Given the description of an element on the screen output the (x, y) to click on. 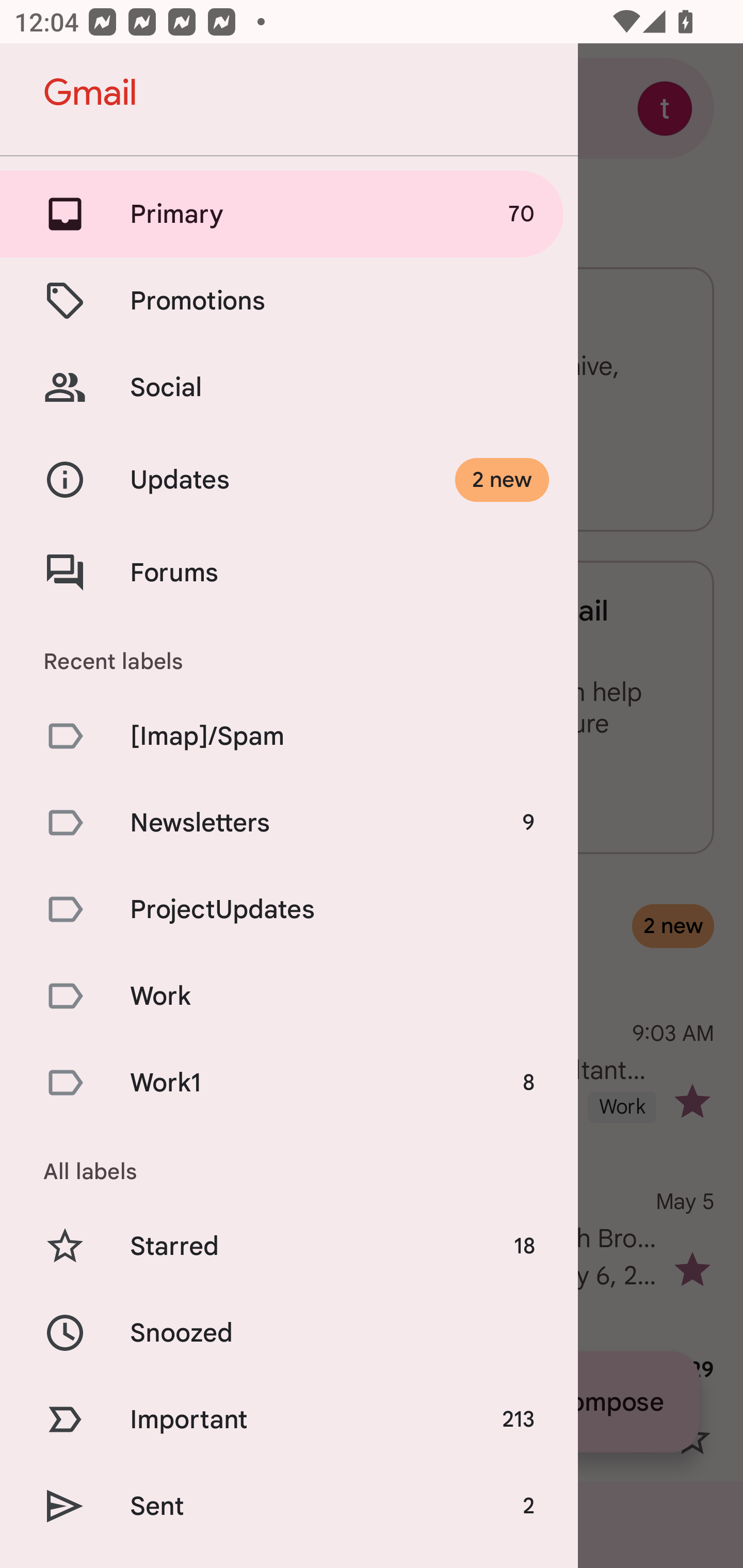
Primary 70 (289, 213)
Promotions (289, 300)
Social (289, 387)
Updates 2 new (289, 480)
Forums (289, 572)
[Imap]/Spam (289, 736)
Newsletters 9 (289, 822)
ProjectUpdates (289, 909)
Work (289, 996)
Work1 8 (289, 1082)
Starred 18 (289, 1245)
Snoozed (289, 1332)
Important 213 (289, 1419)
Sent 2 (289, 1505)
